Given the description of an element on the screen output the (x, y) to click on. 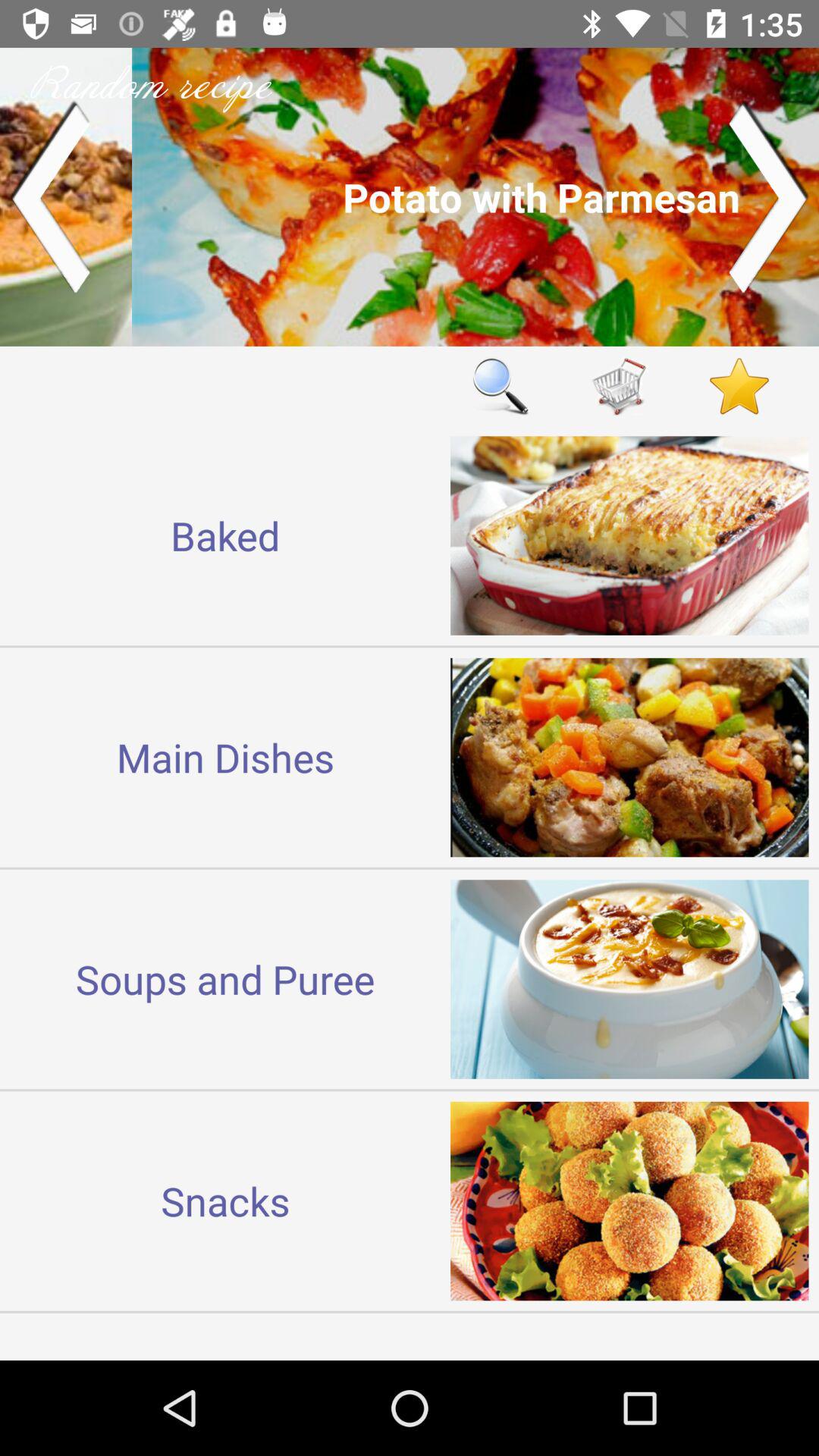
search (500, 385)
